Given the description of an element on the screen output the (x, y) to click on. 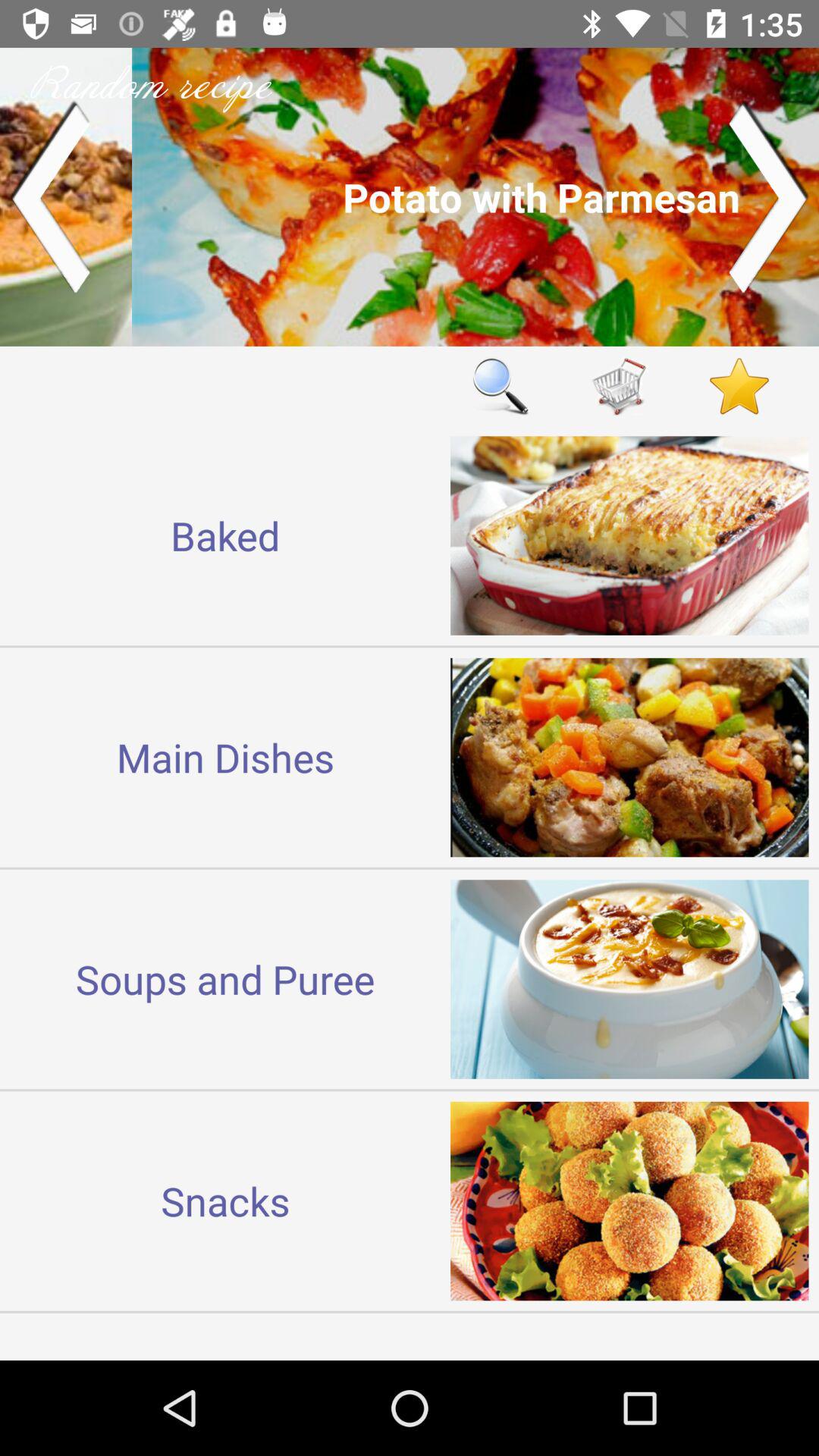
search (500, 385)
